Given the description of an element on the screen output the (x, y) to click on. 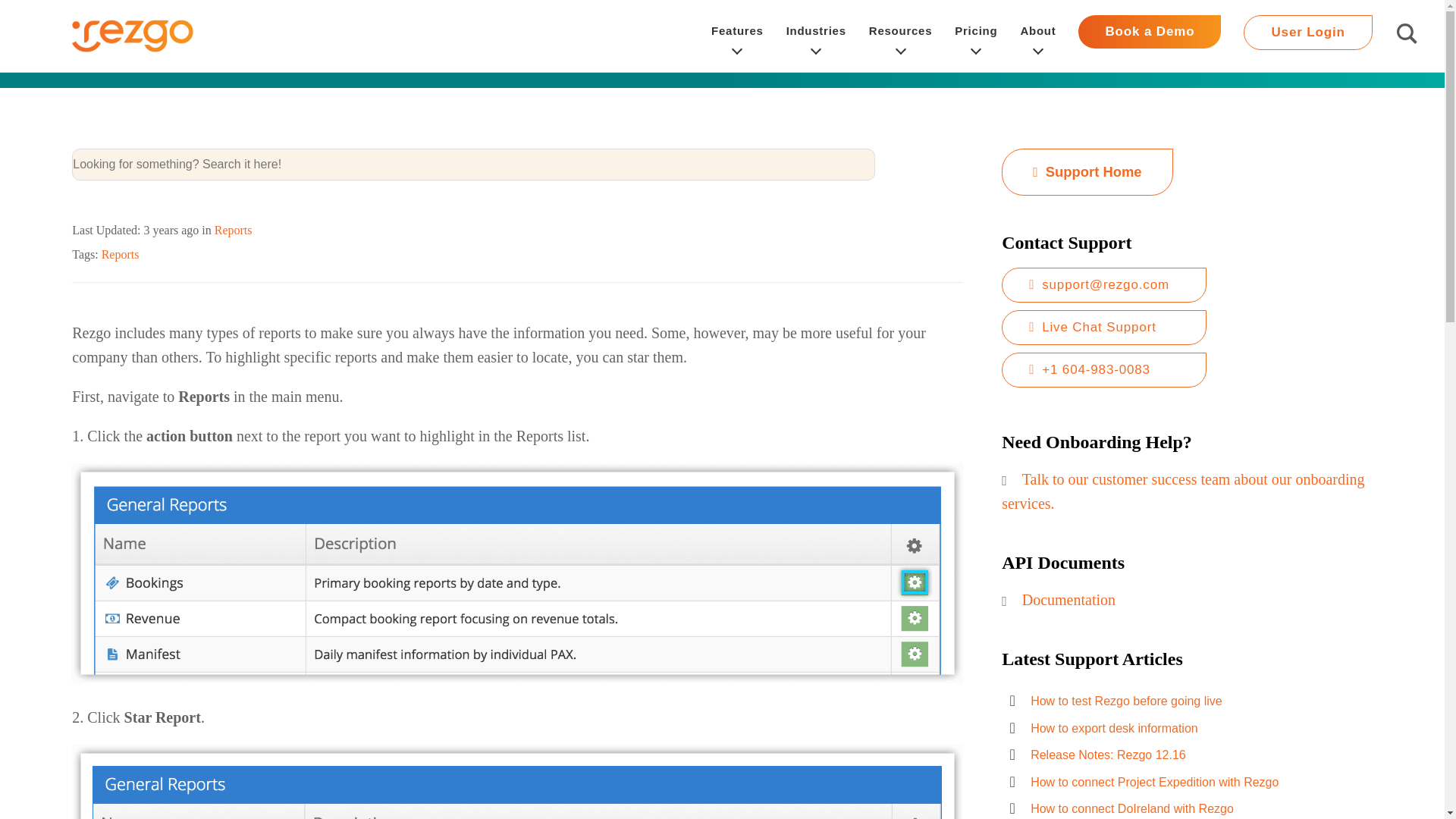
Features (736, 36)
User Login (1307, 35)
Industries (815, 36)
Book a Demo (1149, 35)
Book a Demo (1149, 31)
User Login (1307, 32)
Pricing (976, 36)
Resources (900, 36)
